Given the description of an element on the screen output the (x, y) to click on. 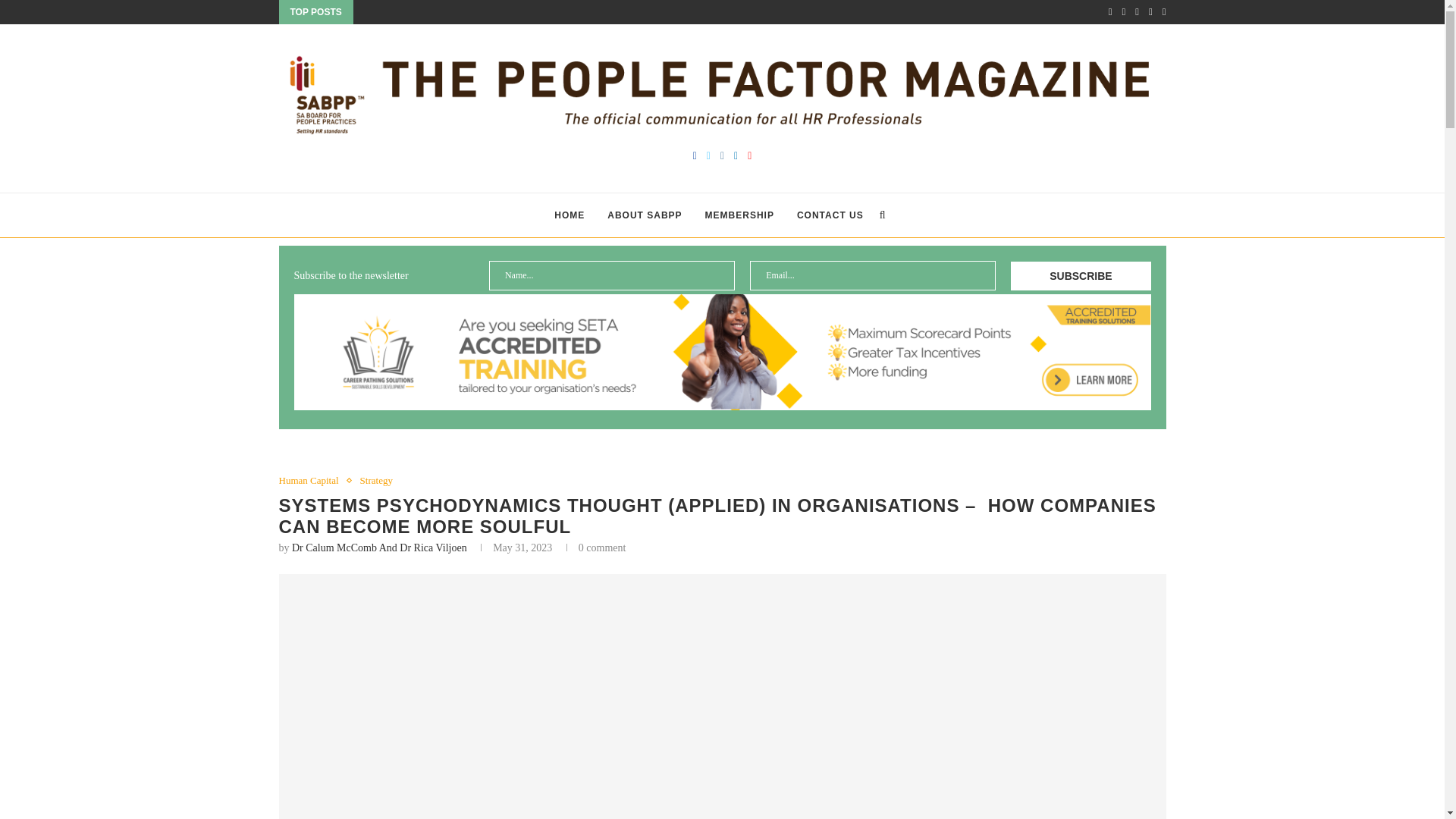
Career Pathing Solutions (722, 352)
Subscribe (1080, 275)
CONTACT US (829, 215)
ABOUT SABPP (644, 215)
Subscribe (1080, 275)
MEMBERSHIP (739, 215)
